Given the description of an element on the screen output the (x, y) to click on. 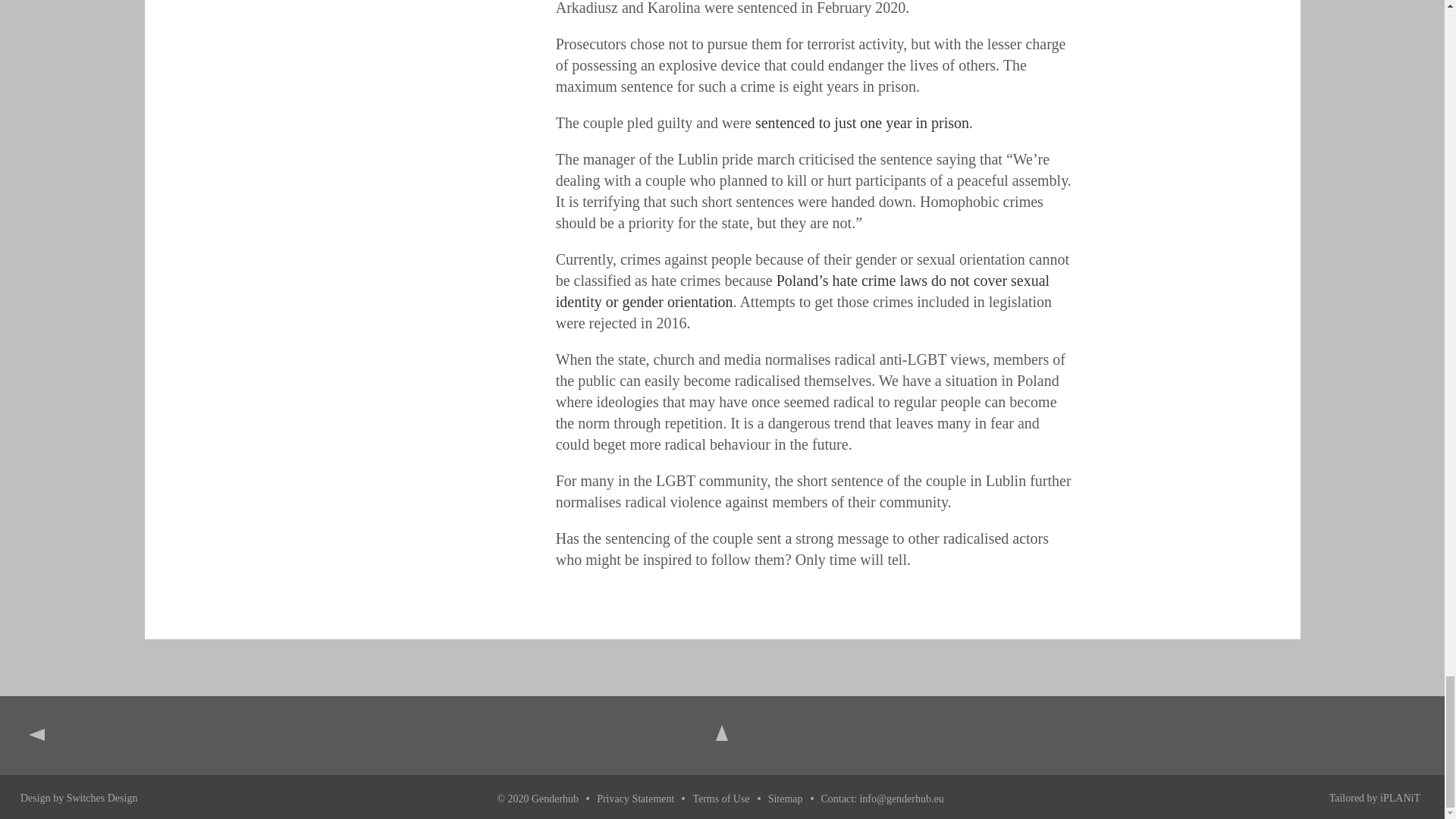
Tailored by iPLANiT (1375, 797)
sentenced to just one year in prison (862, 122)
Privacy Statement (635, 798)
Sitemap (785, 798)
Design by Switches Design (78, 797)
Terms of Use (721, 798)
Design by Switches Design (78, 797)
Tailored by iPLANiT (1375, 797)
